Given the description of an element on the screen output the (x, y) to click on. 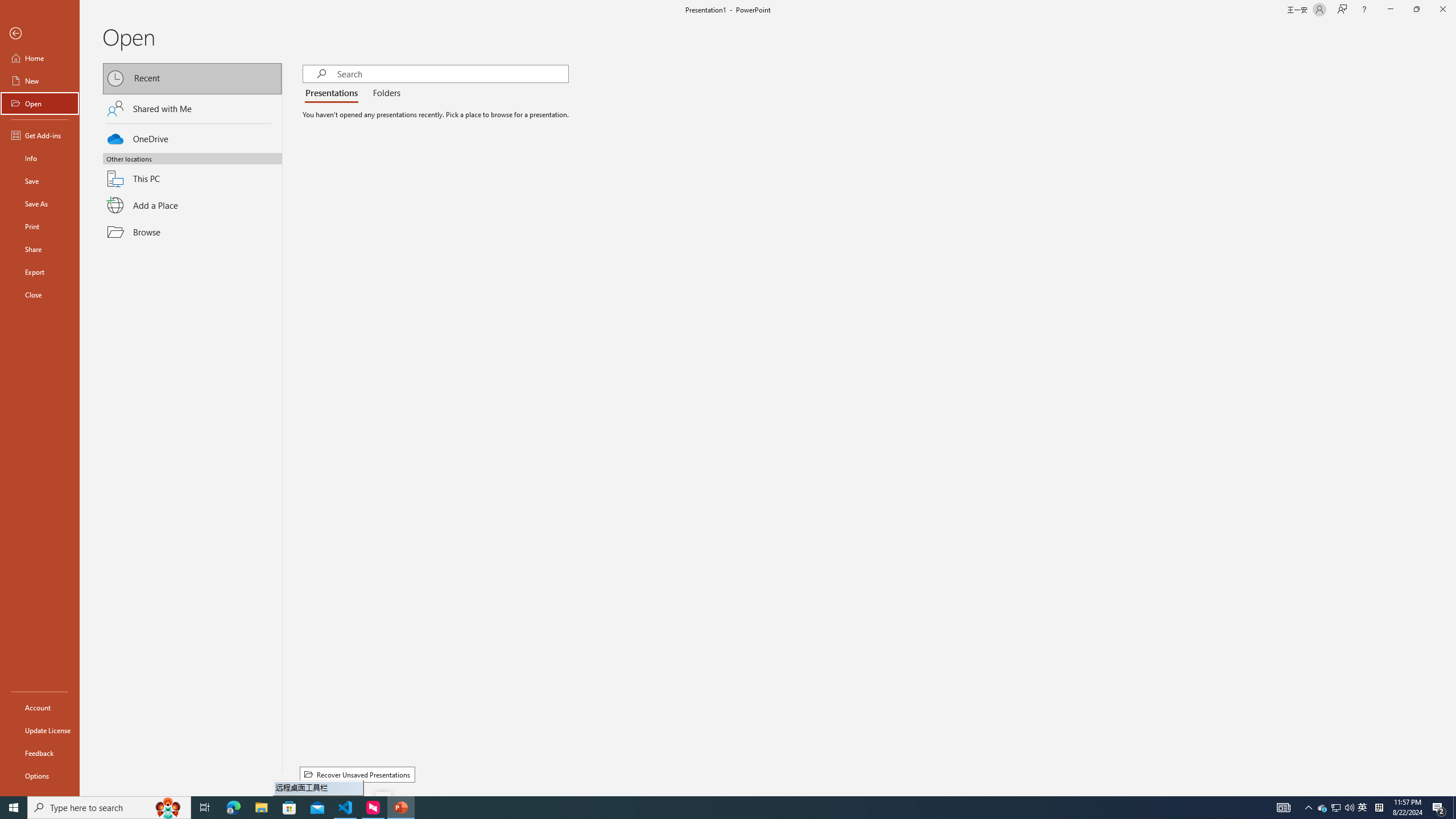
OneDrive (192, 136)
Feedback (40, 753)
Update License (40, 730)
Recover Unsaved Presentations (356, 774)
Presentations (333, 93)
Back (40, 33)
Save As (40, 203)
This PC (192, 171)
